Given the description of an element on the screen output the (x, y) to click on. 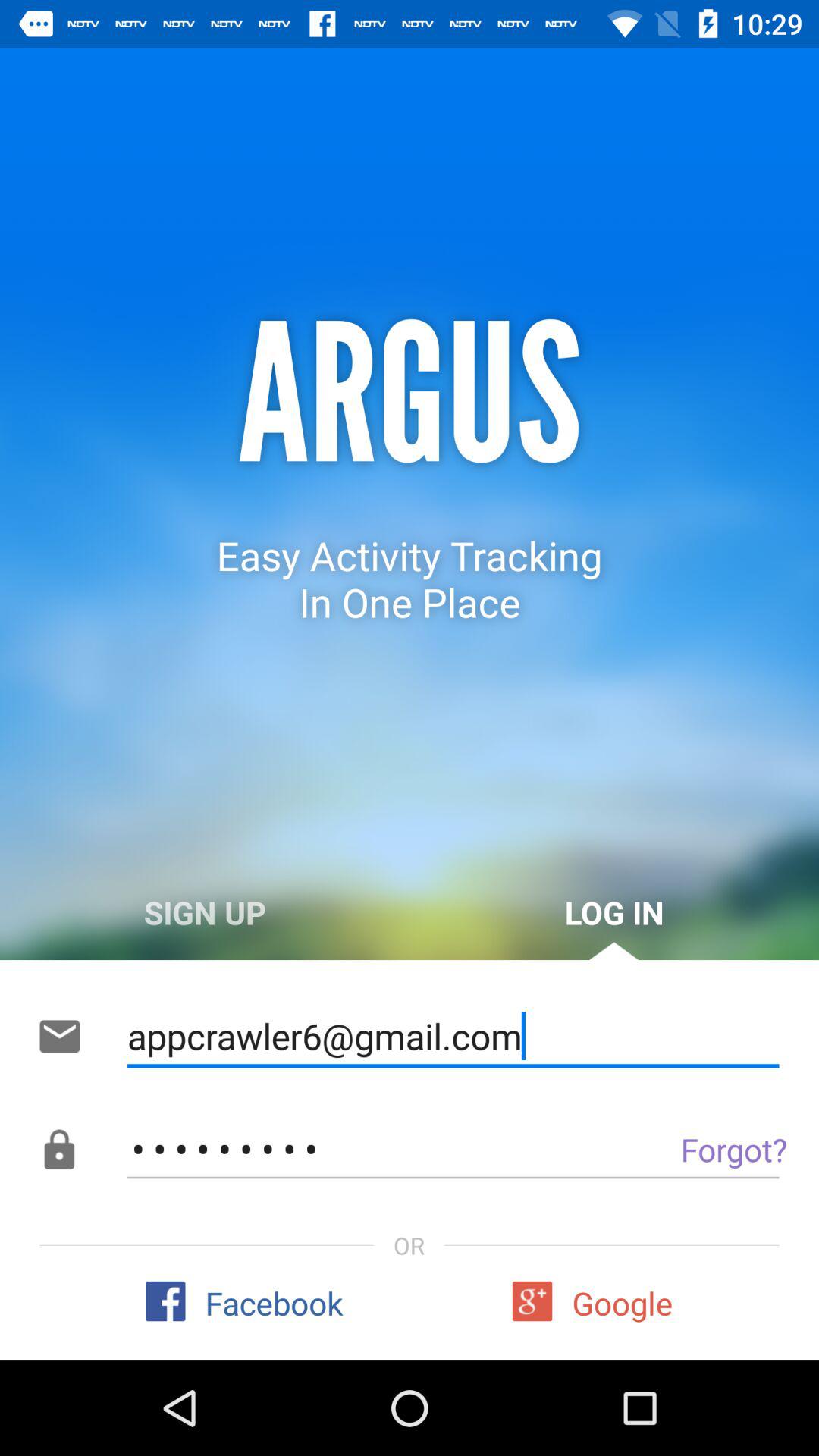
turn off item below easy activity tracking item (204, 912)
